Given the description of an element on the screen output the (x, y) to click on. 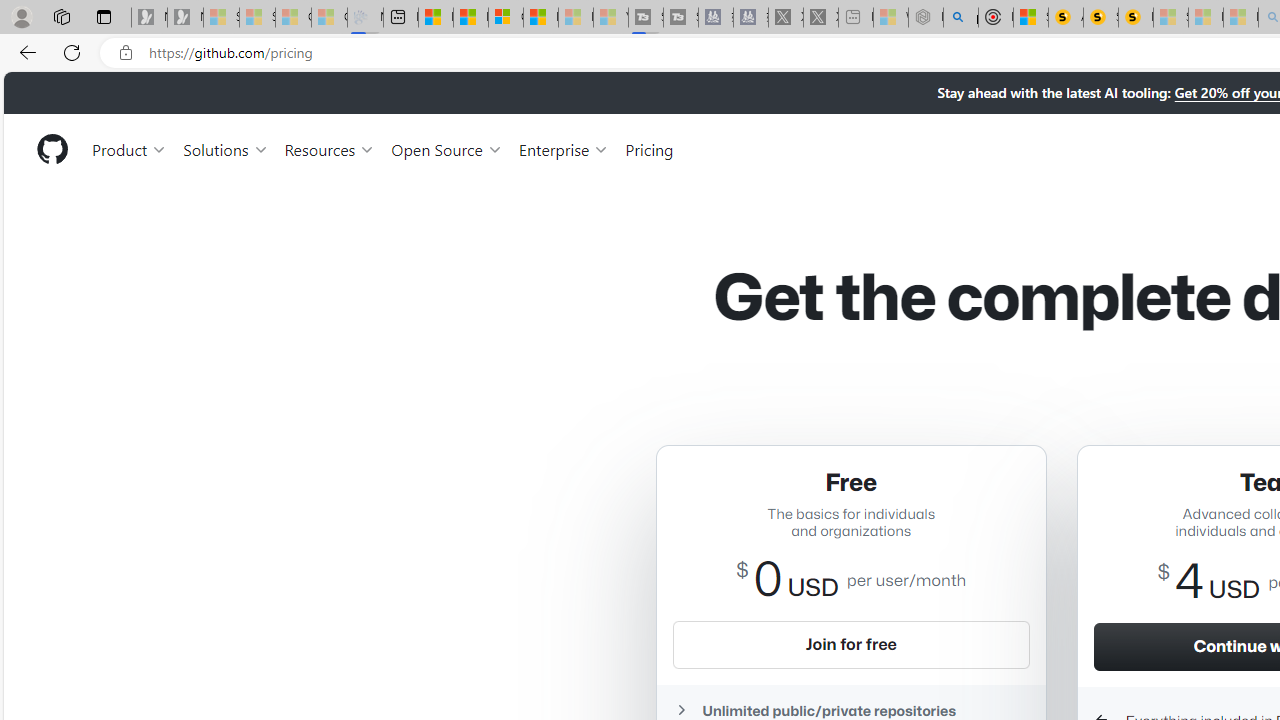
Wildlife - MSN - Sleeping (890, 17)
Newsletter Sign Up - Sleeping (185, 17)
poe - Search (960, 17)
Enterprise (563, 148)
Product (130, 148)
Overview (506, 17)
Pricing (649, 148)
Open Source (446, 148)
